Given the description of an element on the screen output the (x, y) to click on. 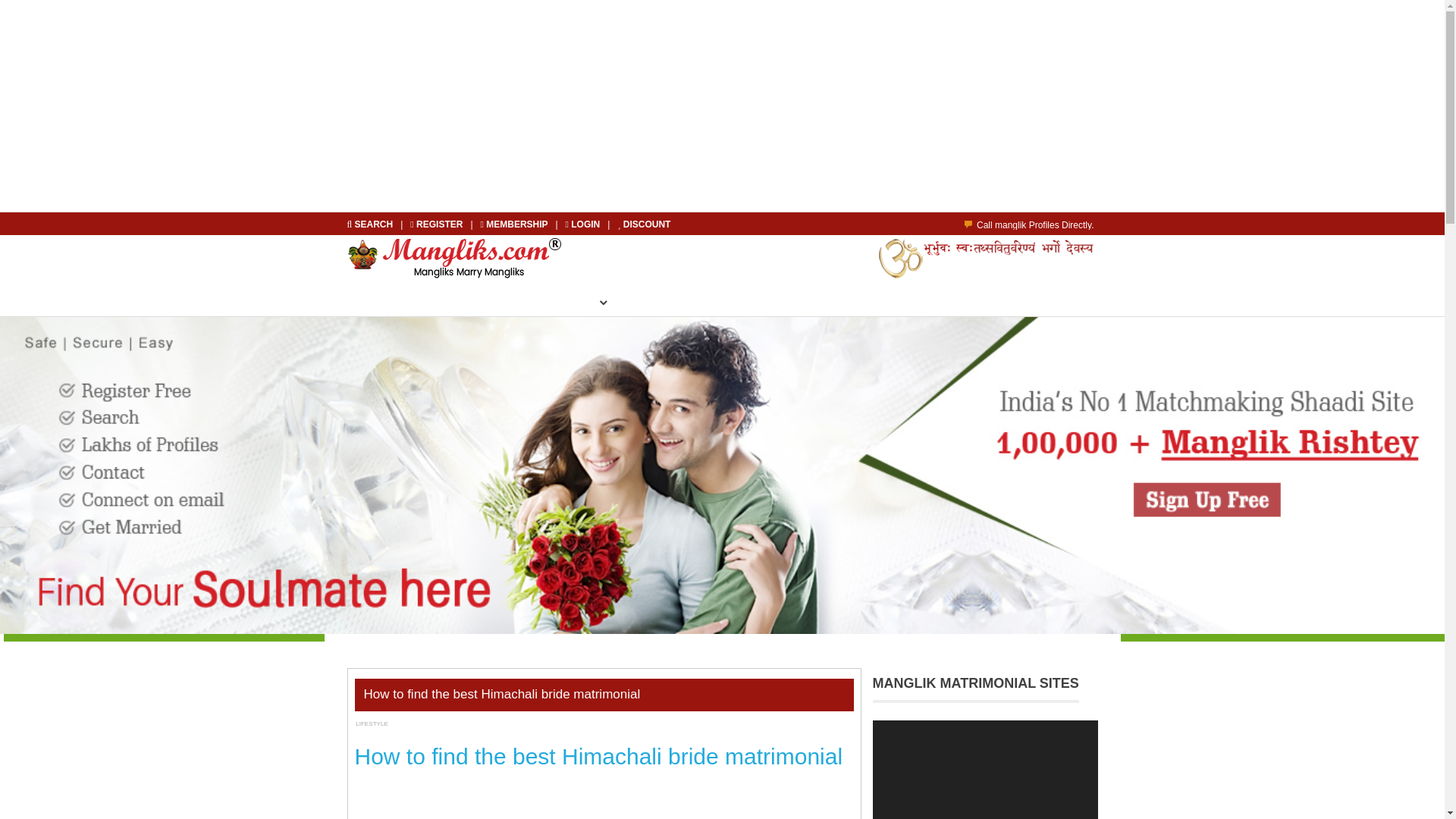
MEMBERSHIP (515, 224)
LOGIN (584, 224)
SEARCH (371, 224)
11:42 am (385, 725)
Login (584, 224)
DISCOUNT (643, 224)
HOME (395, 301)
Discount (643, 224)
CONTACT US (840, 301)
Register (437, 224)
MEMBERSHIP (676, 301)
REGISTER NOW (481, 301)
Membership (515, 224)
Search (371, 224)
Mangliks Matrimonial - Mangliks Marry Mangliks (454, 258)
